Given the description of an element on the screen output the (x, y) to click on. 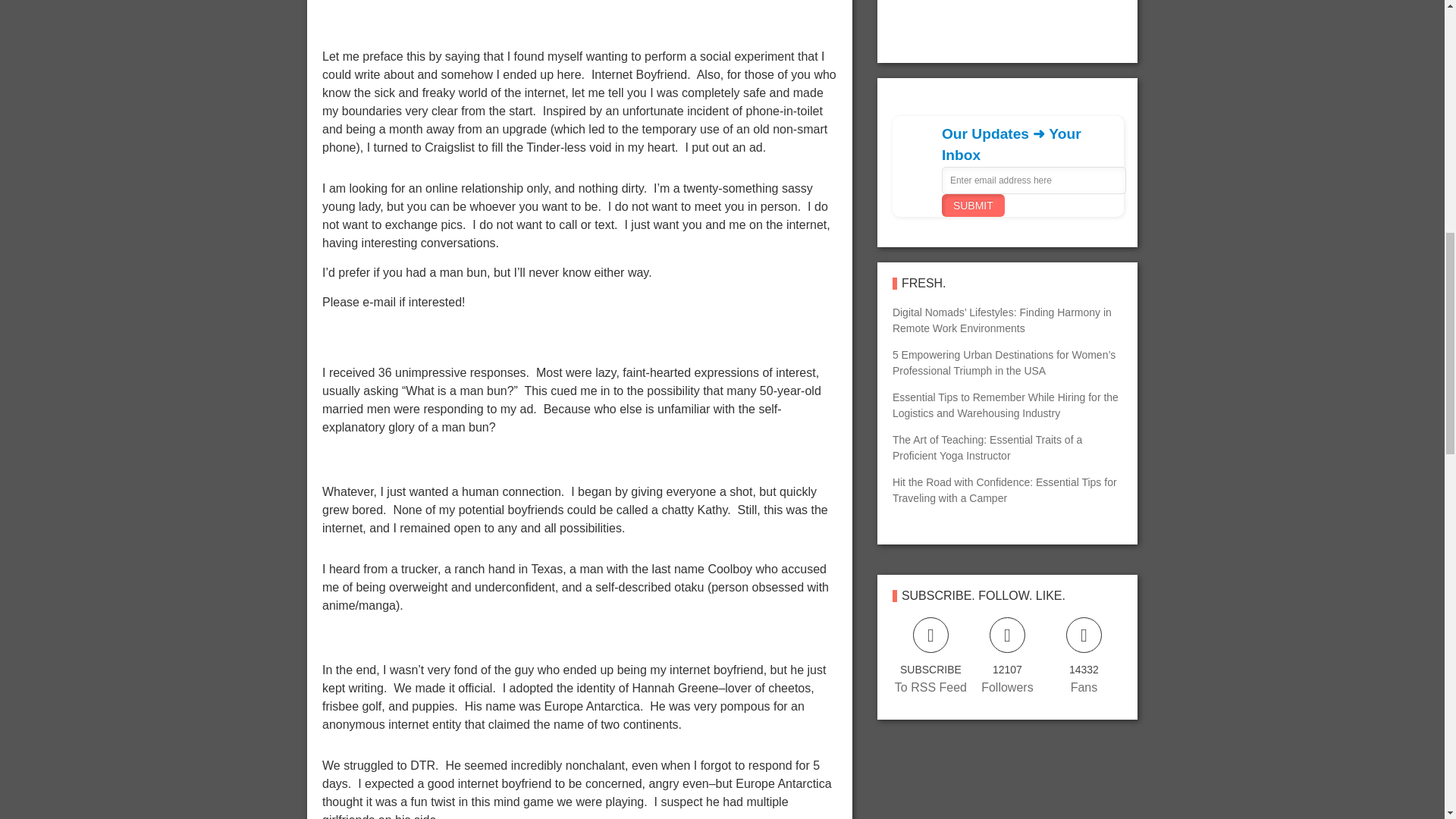
Enter email address here (1033, 180)
Submit (973, 205)
